Given the description of an element on the screen output the (x, y) to click on. 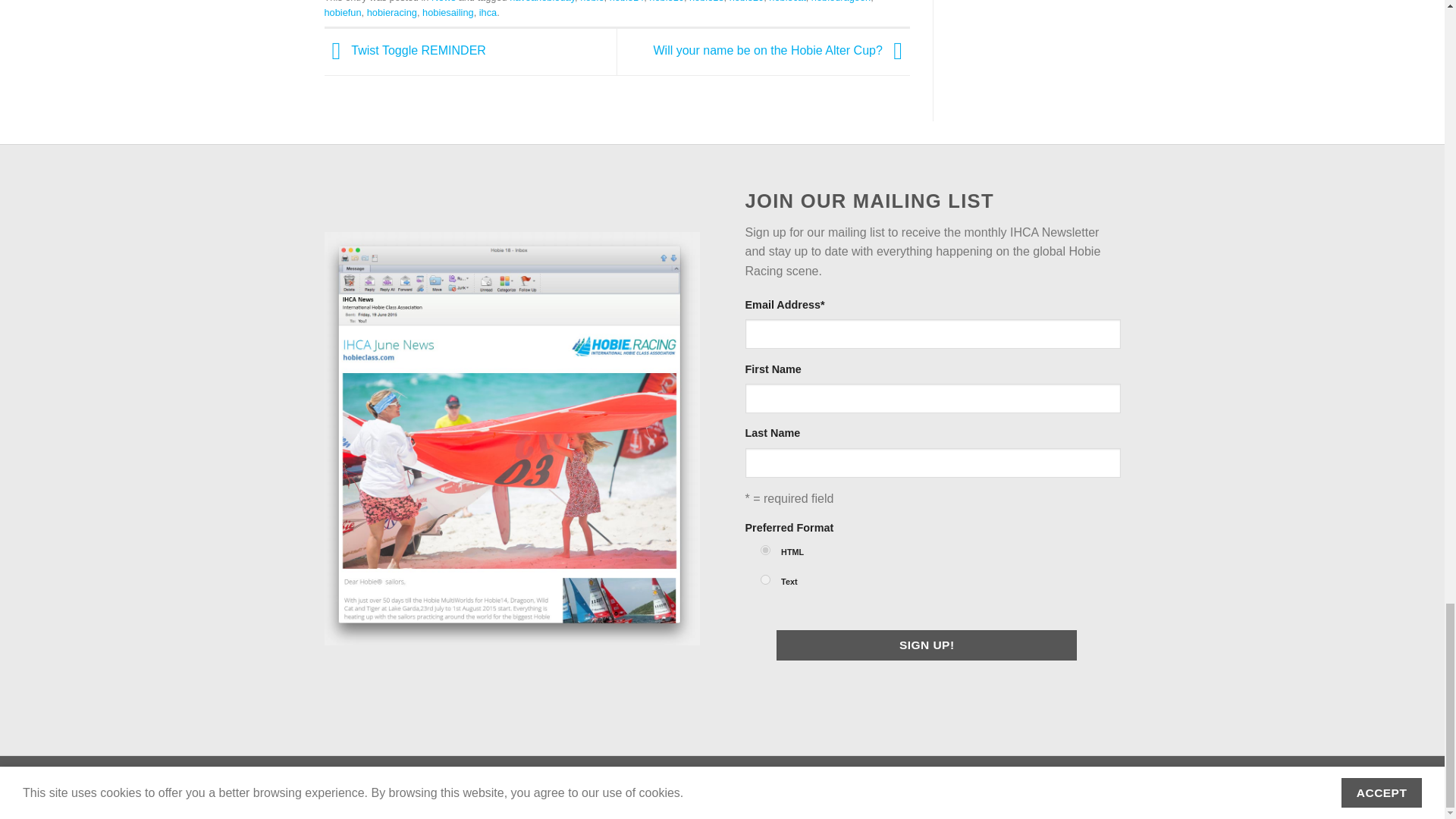
html (765, 550)
Sign Up! (926, 644)
text (765, 579)
